Given the description of an element on the screen output the (x, y) to click on. 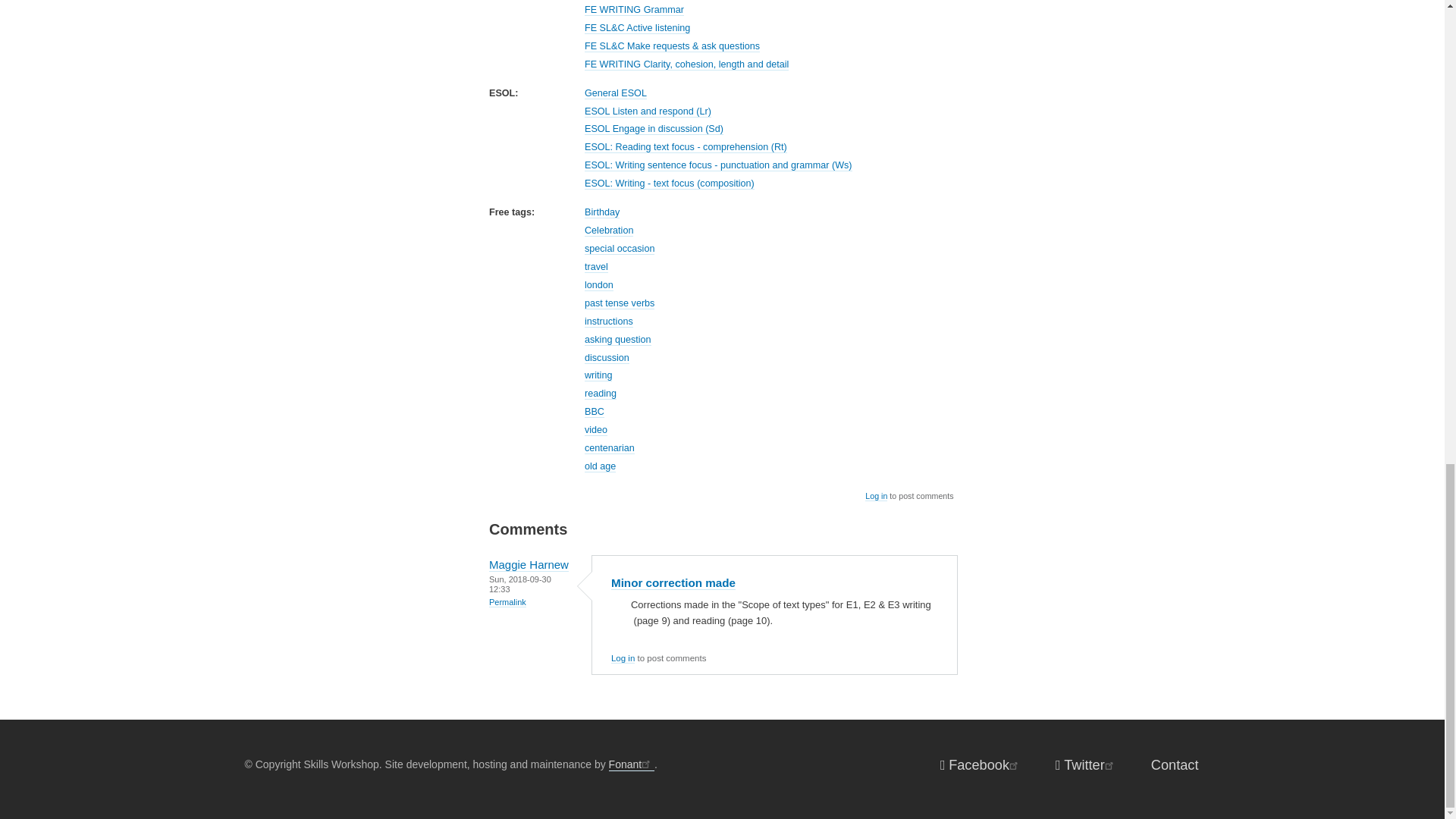
The skillsworkshop Facebook page (980, 765)
FE WRITING Clarity, cohesion, length and detail (687, 64)
The skillsworkshop Twitter page (1085, 765)
FE WRITING Grammar (634, 9)
View user profile. (529, 564)
General ESOL (615, 93)
